Given the description of an element on the screen output the (x, y) to click on. 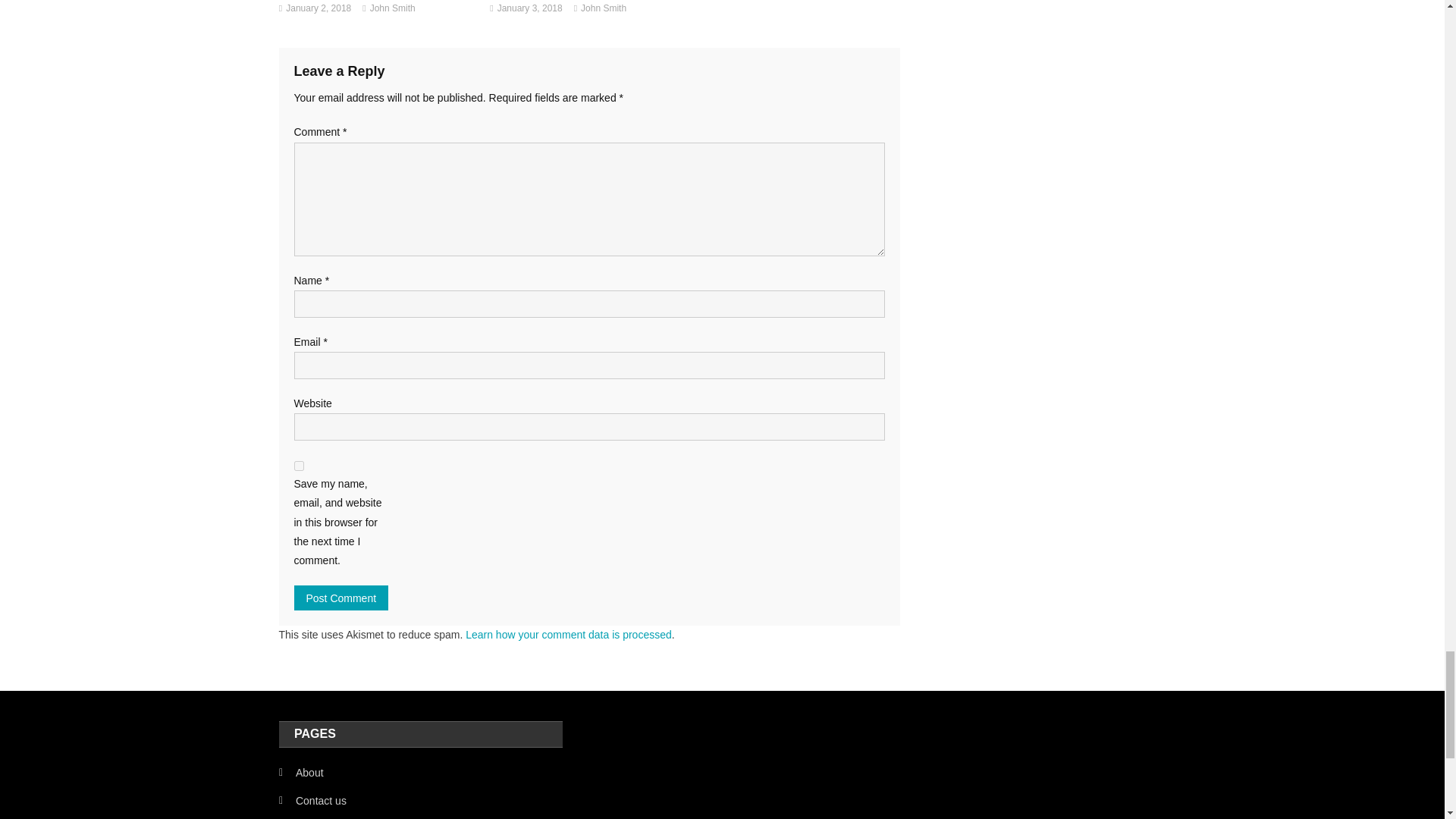
Post Comment (341, 597)
John Smith (603, 8)
John Smith (391, 8)
January 3, 2018 (529, 8)
Post Comment (341, 597)
yes (299, 465)
January 2, 2018 (317, 8)
